Given the description of an element on the screen output the (x, y) to click on. 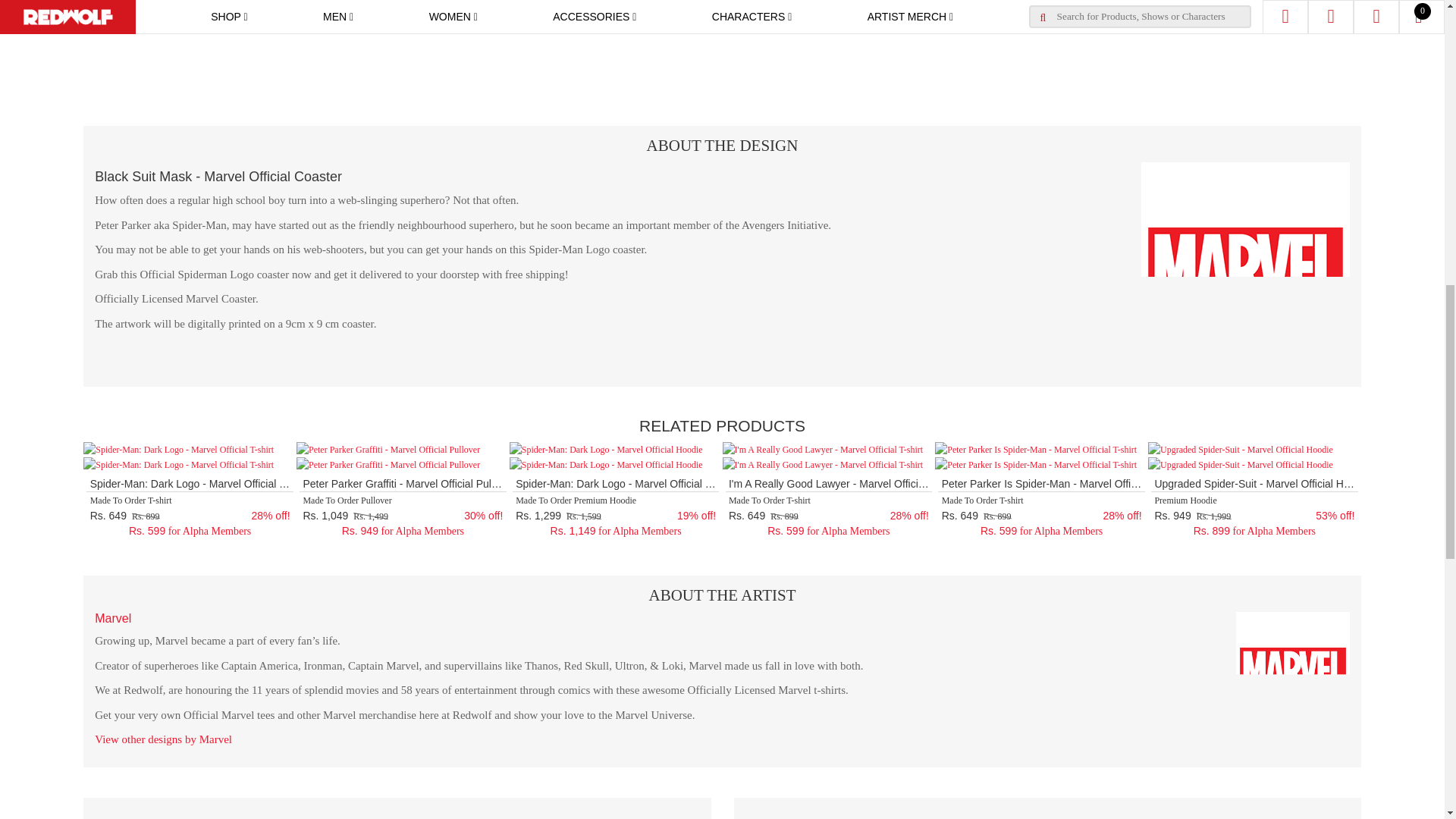
Peter Parker Is Spider-Man - Marvel Official T-shirt (1035, 449)
Peter Parker Graffiti - Marvel Official Pullover (388, 449)
Spider-Man: Dark Logo - Marvel Official T-shirt (177, 449)
Spider-Man: Dark Logo - Marvel Official Hoodie (606, 449)
I'm A Really Good Lawyer - Marvel Official T-shirt (822, 449)
Upgraded Spider-Suit - Marvel Official Hoodie (1240, 449)
